Given the description of an element on the screen output the (x, y) to click on. 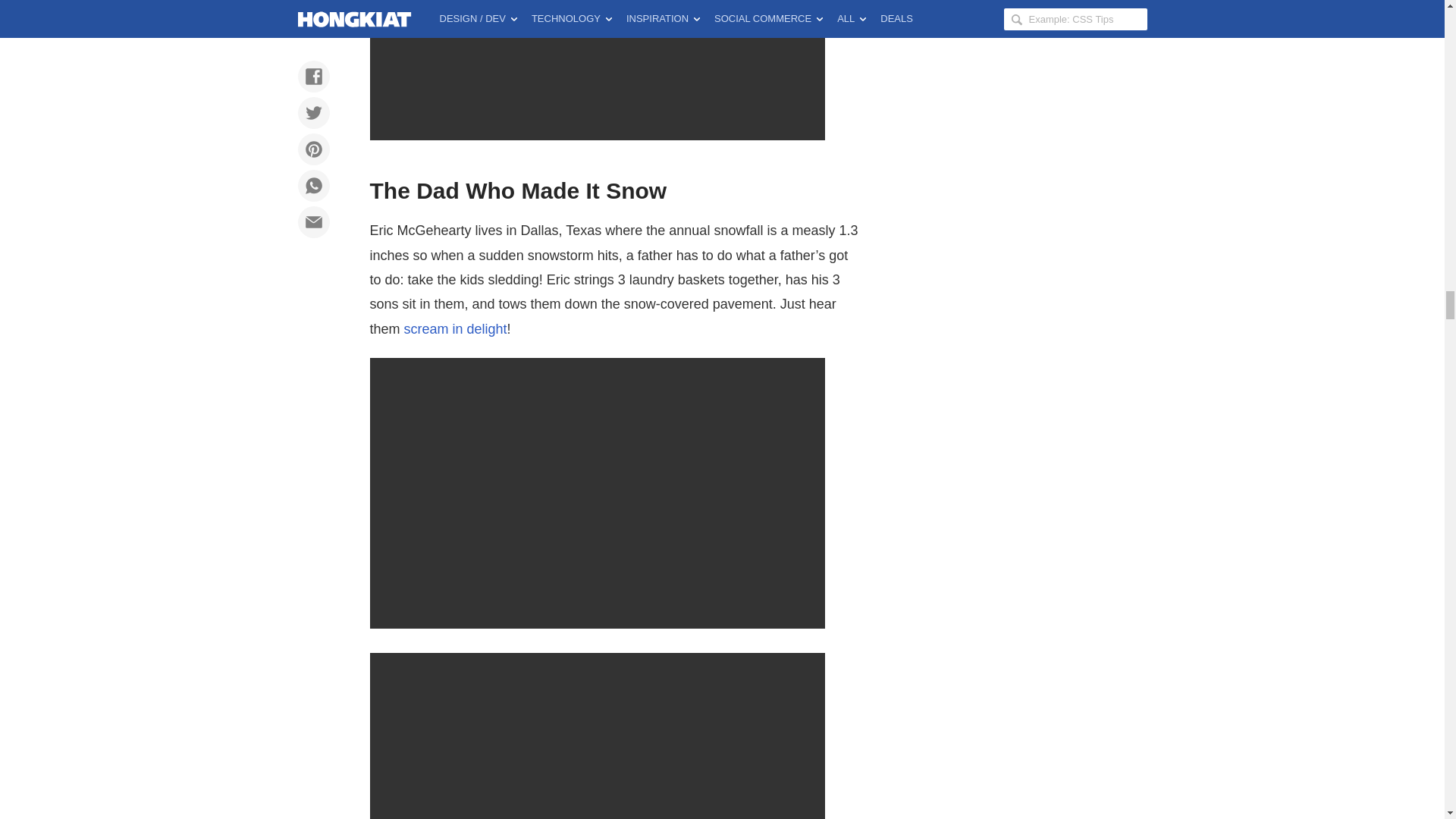
scream in delight (455, 328)
